Given the description of an element on the screen output the (x, y) to click on. 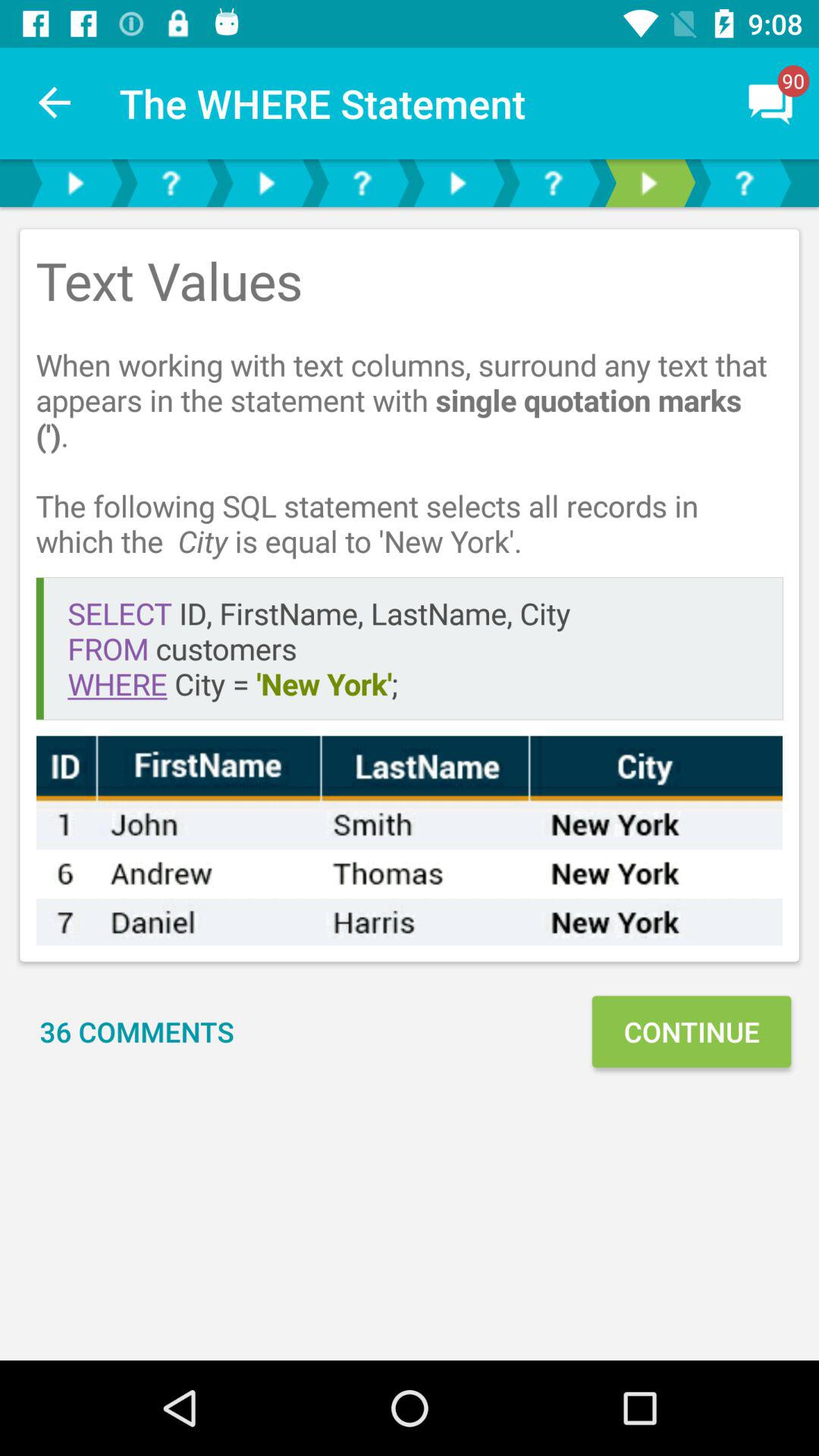
go to next text (74, 183)
